Given the description of an element on the screen output the (x, y) to click on. 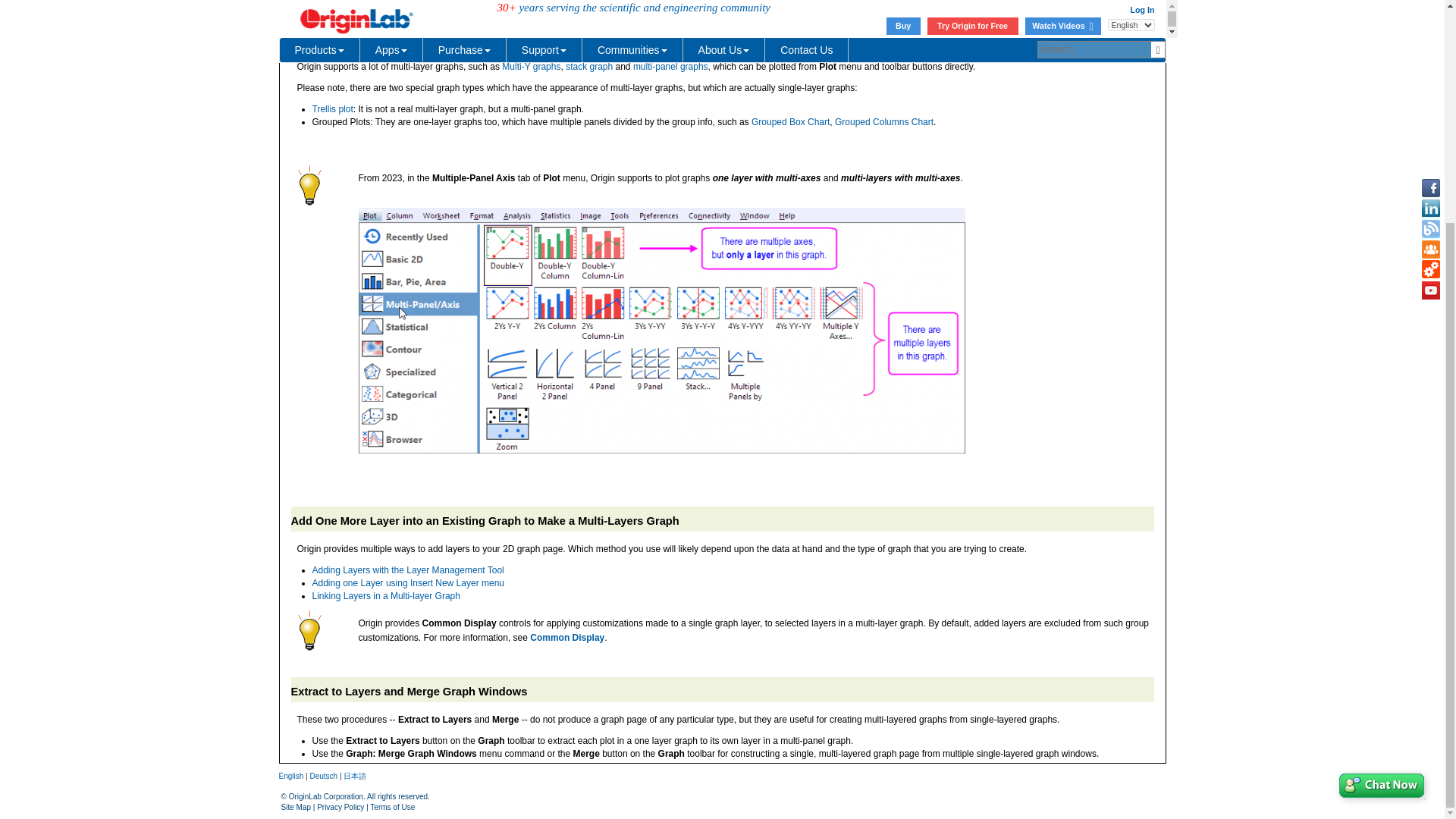
Youtube (1431, 2)
